Given the description of an element on the screen output the (x, y) to click on. 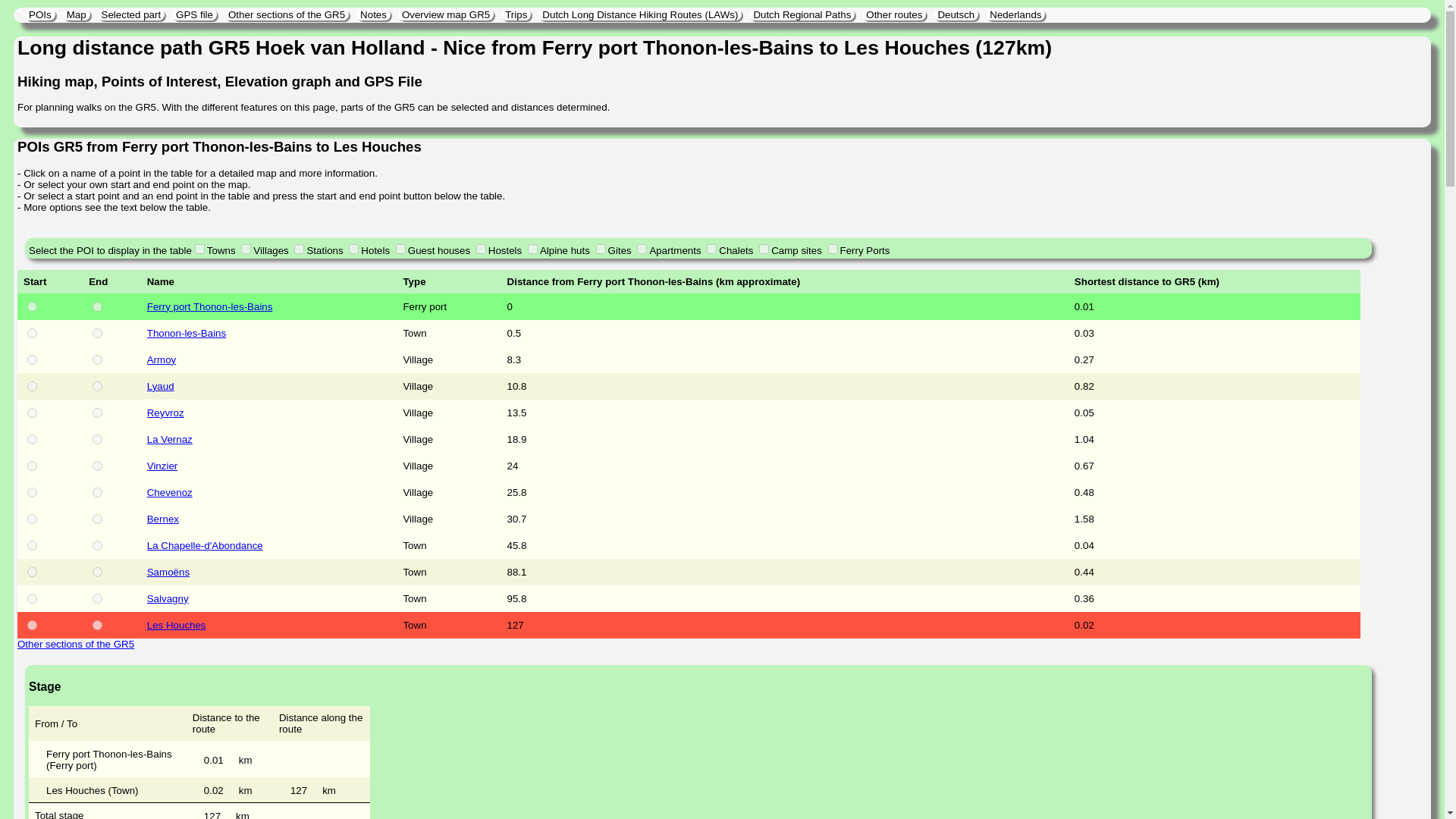
on (299, 248)
on (711, 248)
on (763, 248)
on (481, 248)
3551 (97, 333)
on (200, 248)
3963 (32, 386)
Thonon-les-Bains (269, 333)
32 (97, 307)
3962 (97, 359)
3963 (97, 386)
on (245, 248)
3551 (32, 333)
Vinzier (269, 465)
